Given the description of an element on the screen output the (x, y) to click on. 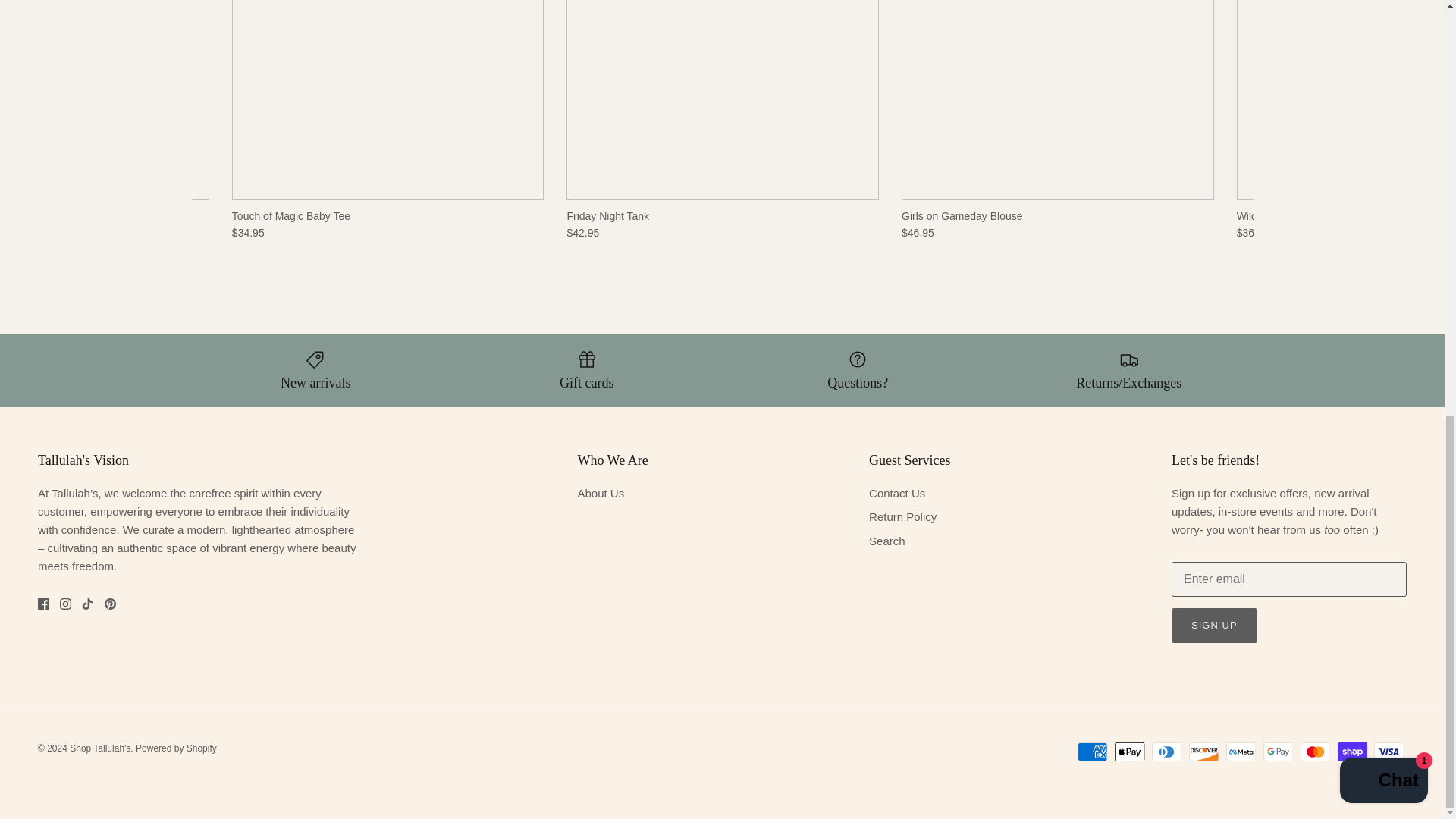
Apple Pay (1129, 751)
Instagram (65, 603)
Pinterest (110, 603)
American Express (1092, 751)
Facebook (43, 603)
Diners Club (1166, 751)
